Given the description of an element on the screen output the (x, y) to click on. 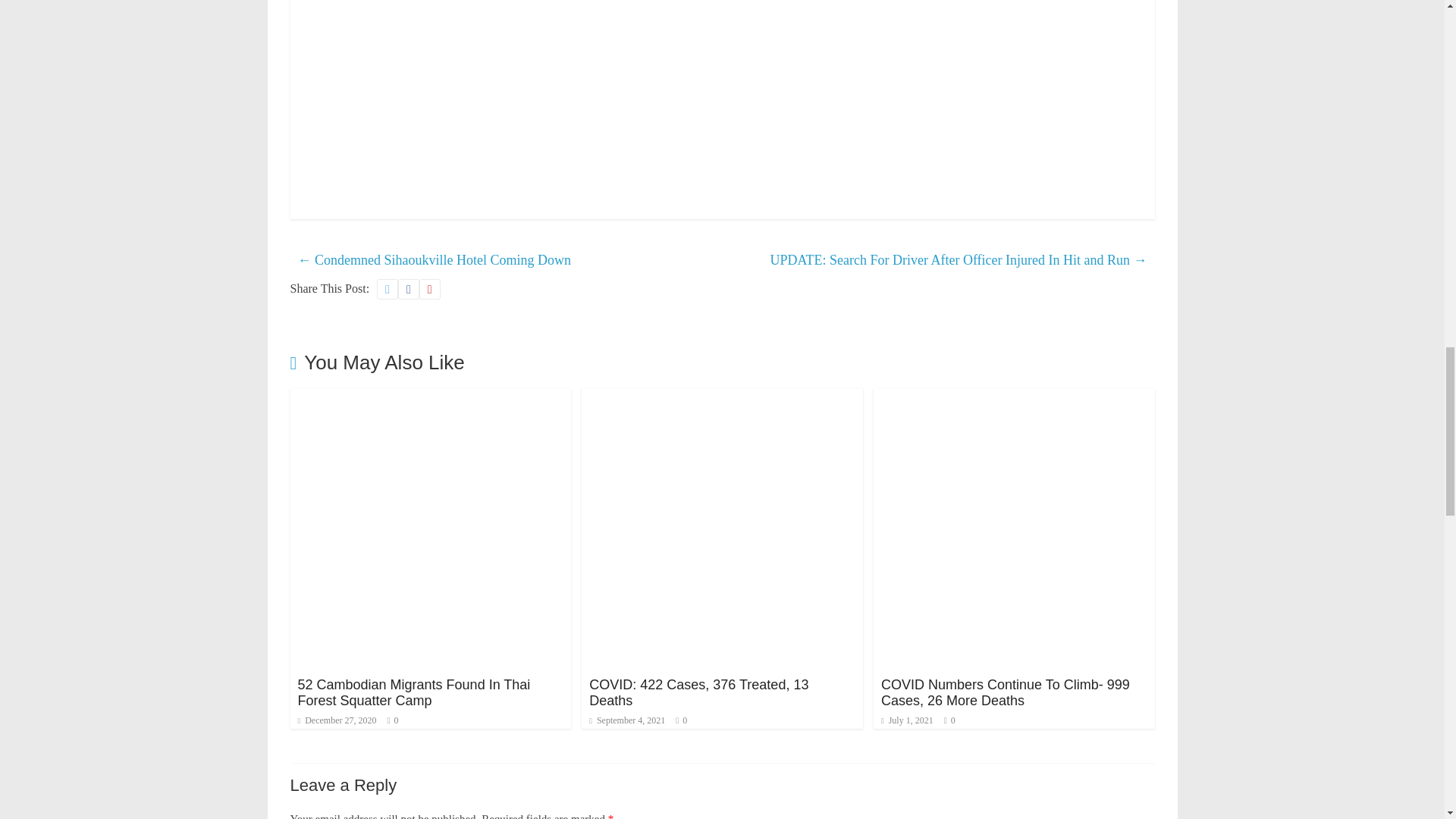
COVID: 422 Cases, 376 Treated, 13 Deaths (721, 397)
52 Cambodian Migrants Found In Thai Forest Squatter Camp (429, 397)
COVID: 422 Cases, 376 Treated, 13 Deaths (698, 693)
52 Cambodian Migrants Found In Thai Forest Squatter Camp (413, 693)
52 Cambodian Migrants Found In Thai Forest Squatter Camp (413, 693)
December 27, 2020 (336, 719)
2:57 pm (336, 719)
